Given the description of an element on the screen output the (x, y) to click on. 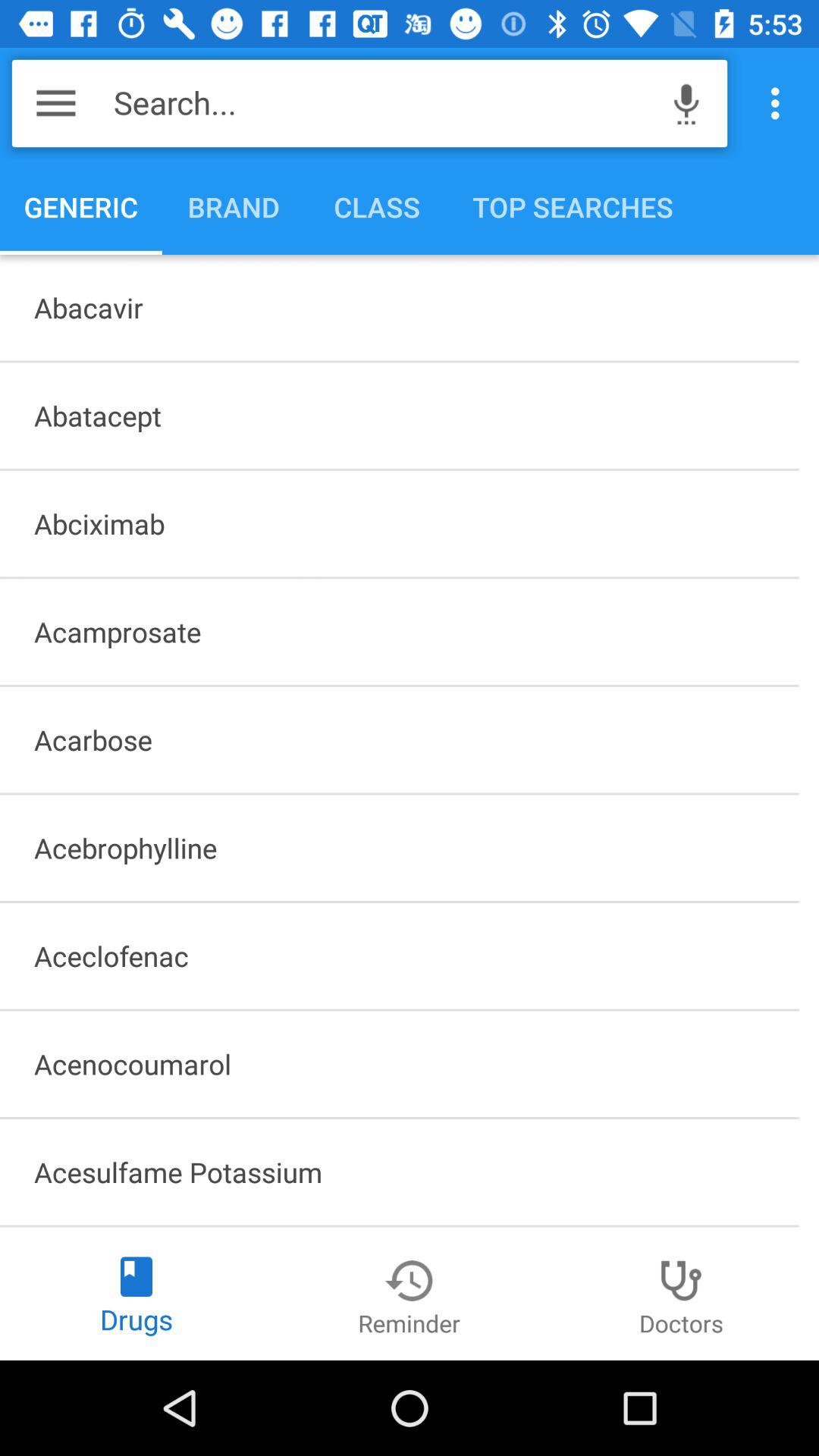
jump until acarbose (399, 739)
